Given the description of an element on the screen output the (x, y) to click on. 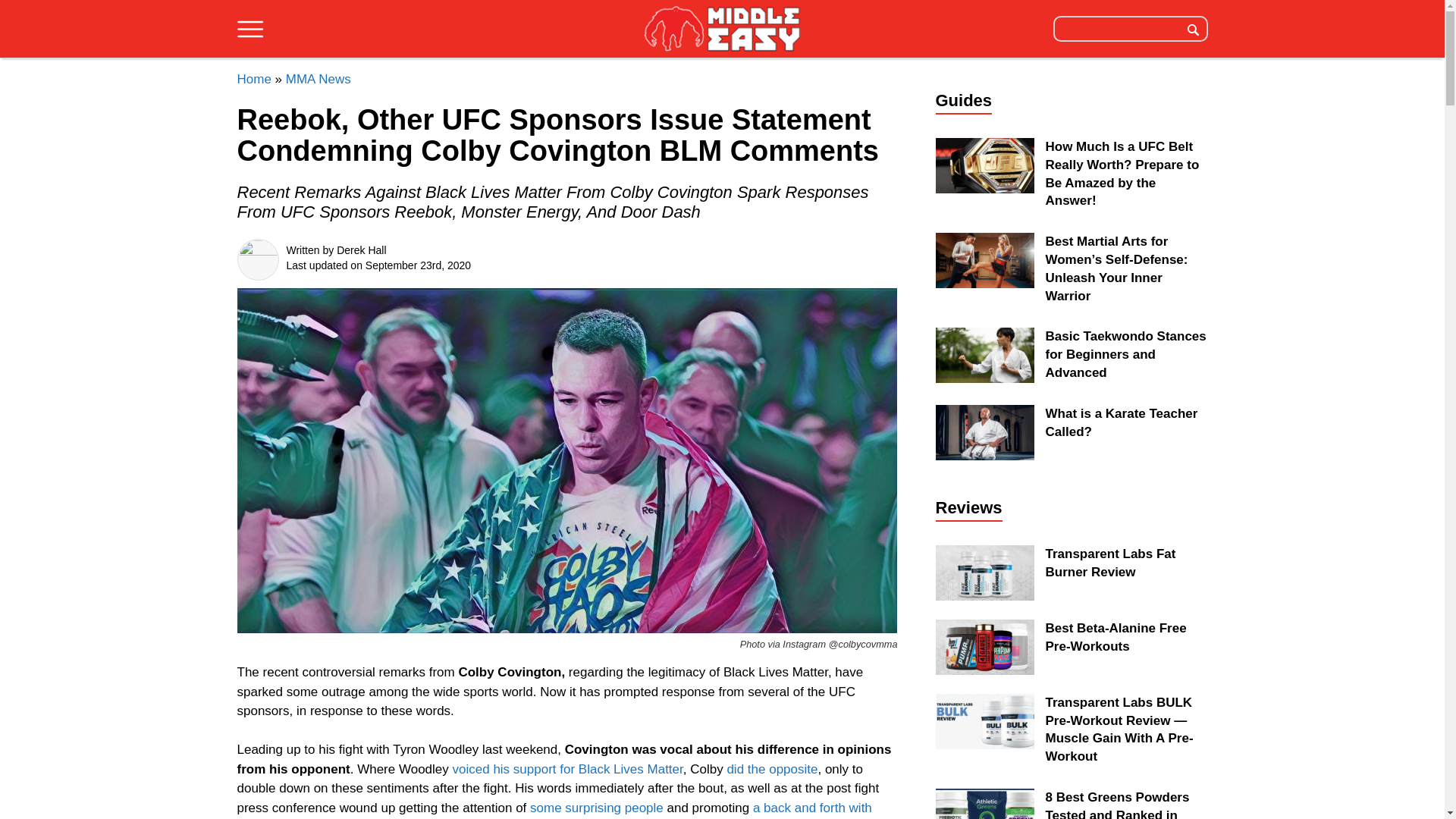
MiddleEasy (721, 29)
MiddleEasy (721, 28)
GO (1193, 28)
